Given the description of an element on the screen output the (x, y) to click on. 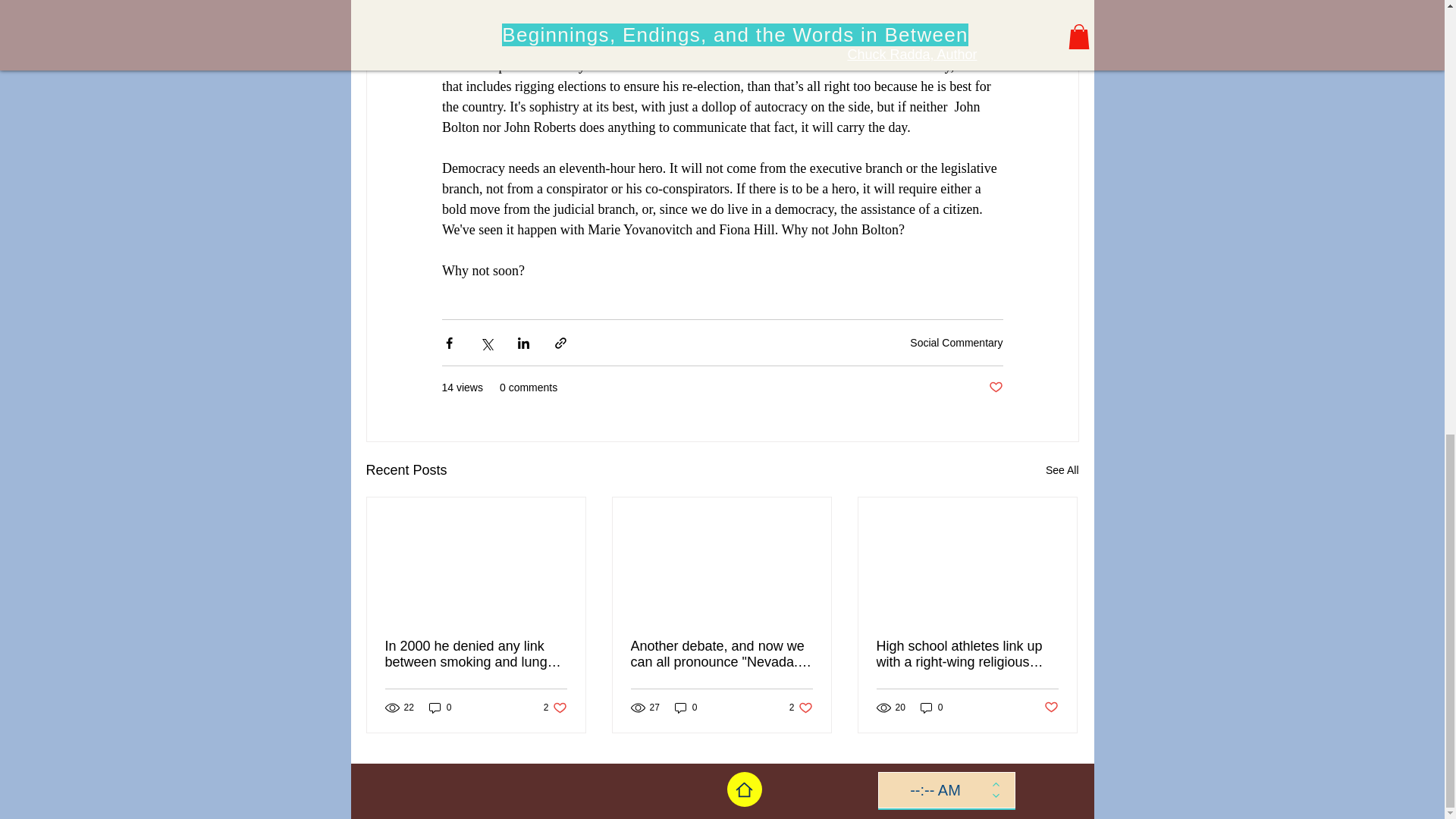
See All (800, 707)
Post not marked as liked (1061, 470)
0 (1050, 707)
0 (931, 707)
0 (555, 707)
Social Commentary (685, 707)
Post not marked as liked (440, 707)
